Given the description of an element on the screen output the (x, y) to click on. 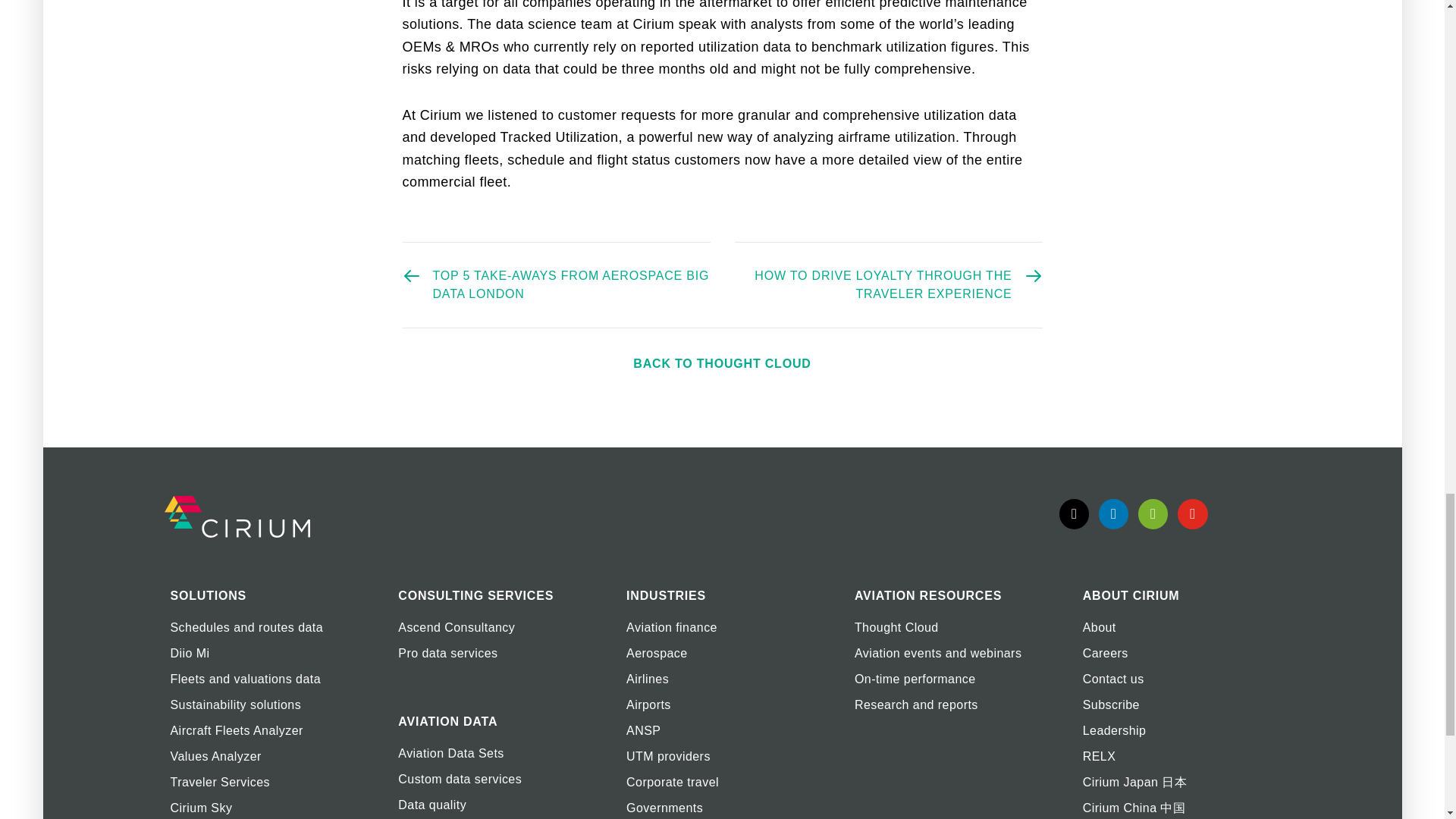
YouTube (1192, 512)
WeChat (1152, 512)
LinkedIn (1113, 512)
X (1074, 512)
